Given the description of an element on the screen output the (x, y) to click on. 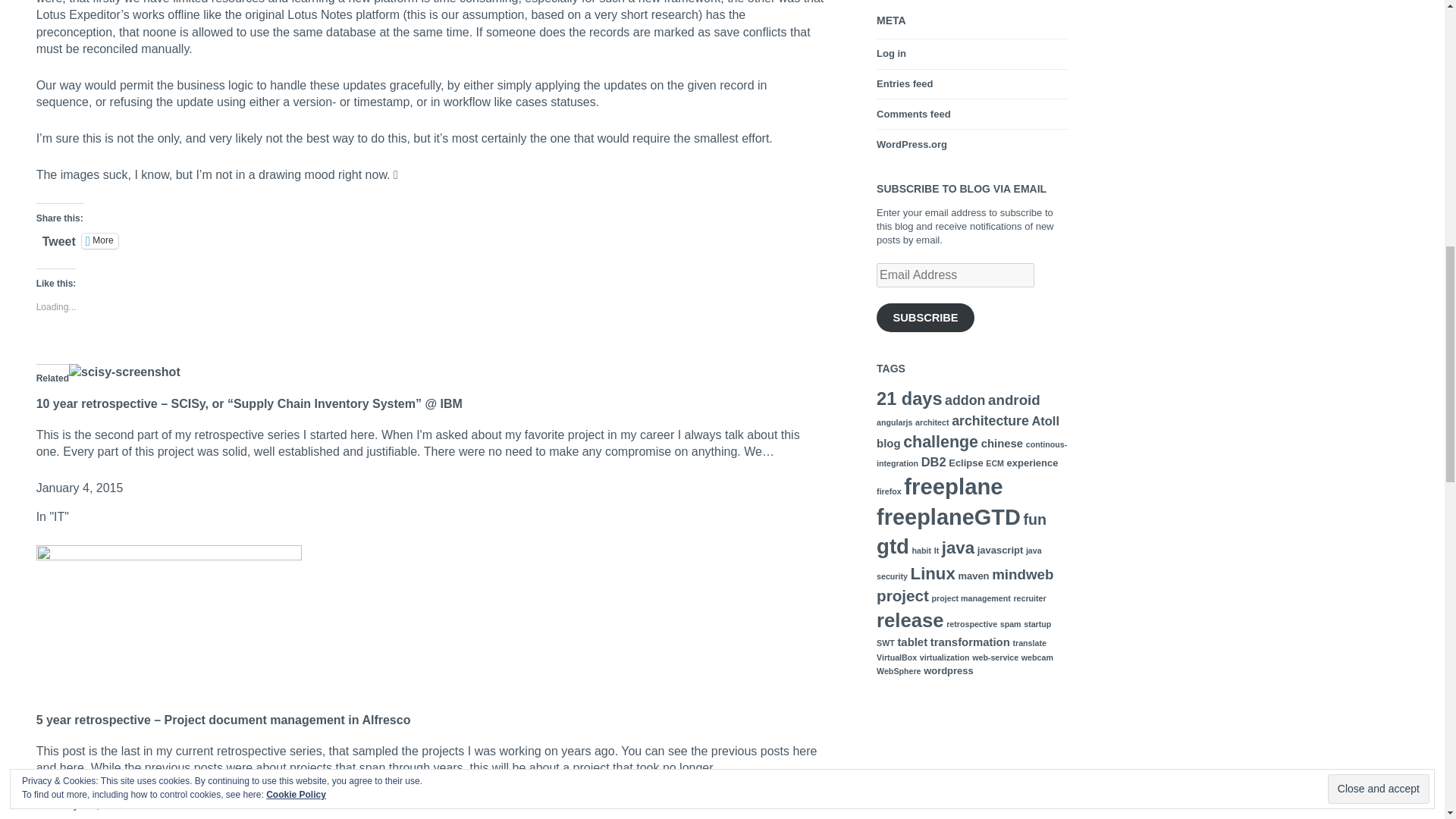
Tweet (58, 240)
More (99, 240)
